Given the description of an element on the screen output the (x, y) to click on. 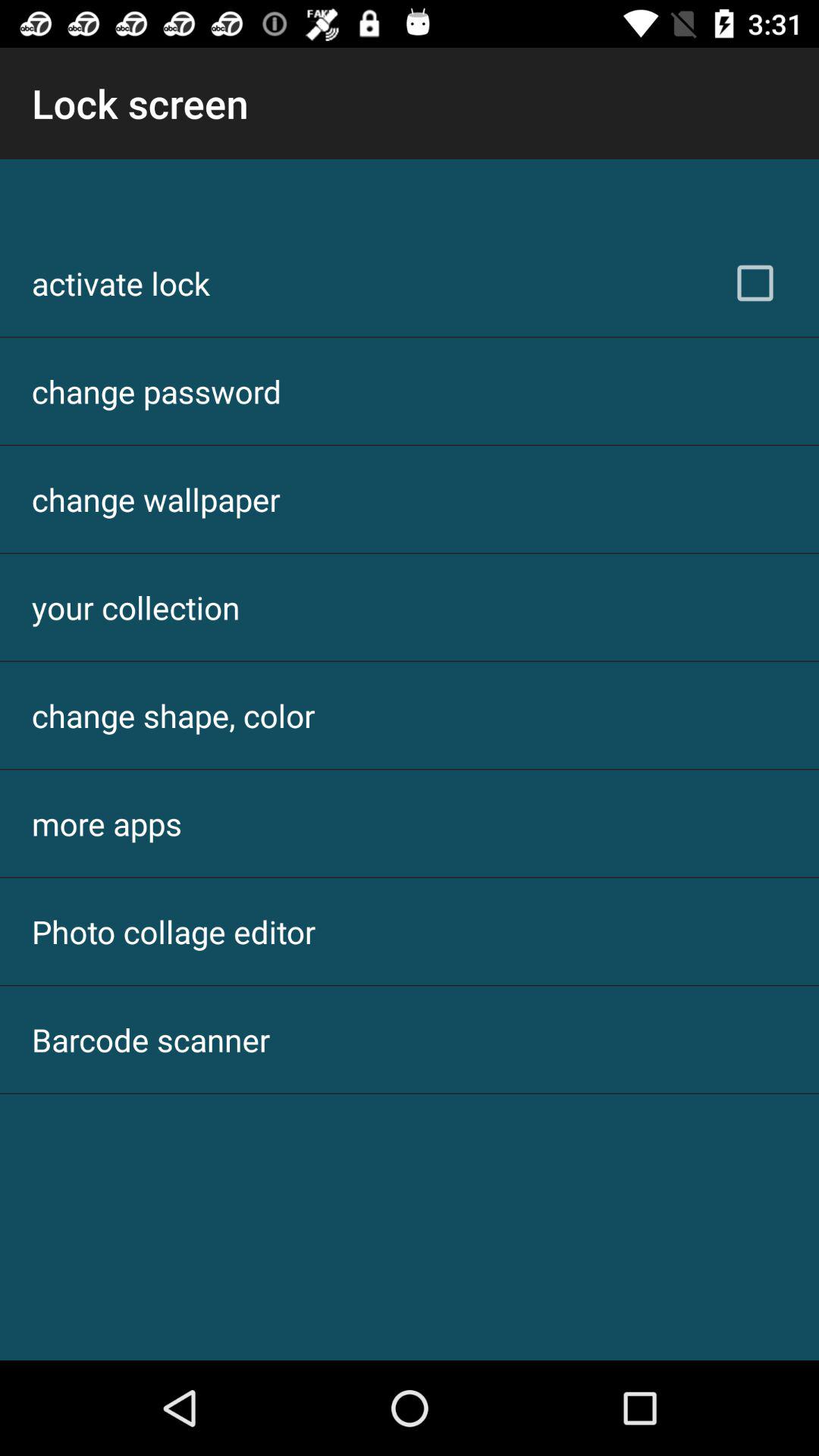
turn on the app to the right of the activate lock app (755, 283)
